Given the description of an element on the screen output the (x, y) to click on. 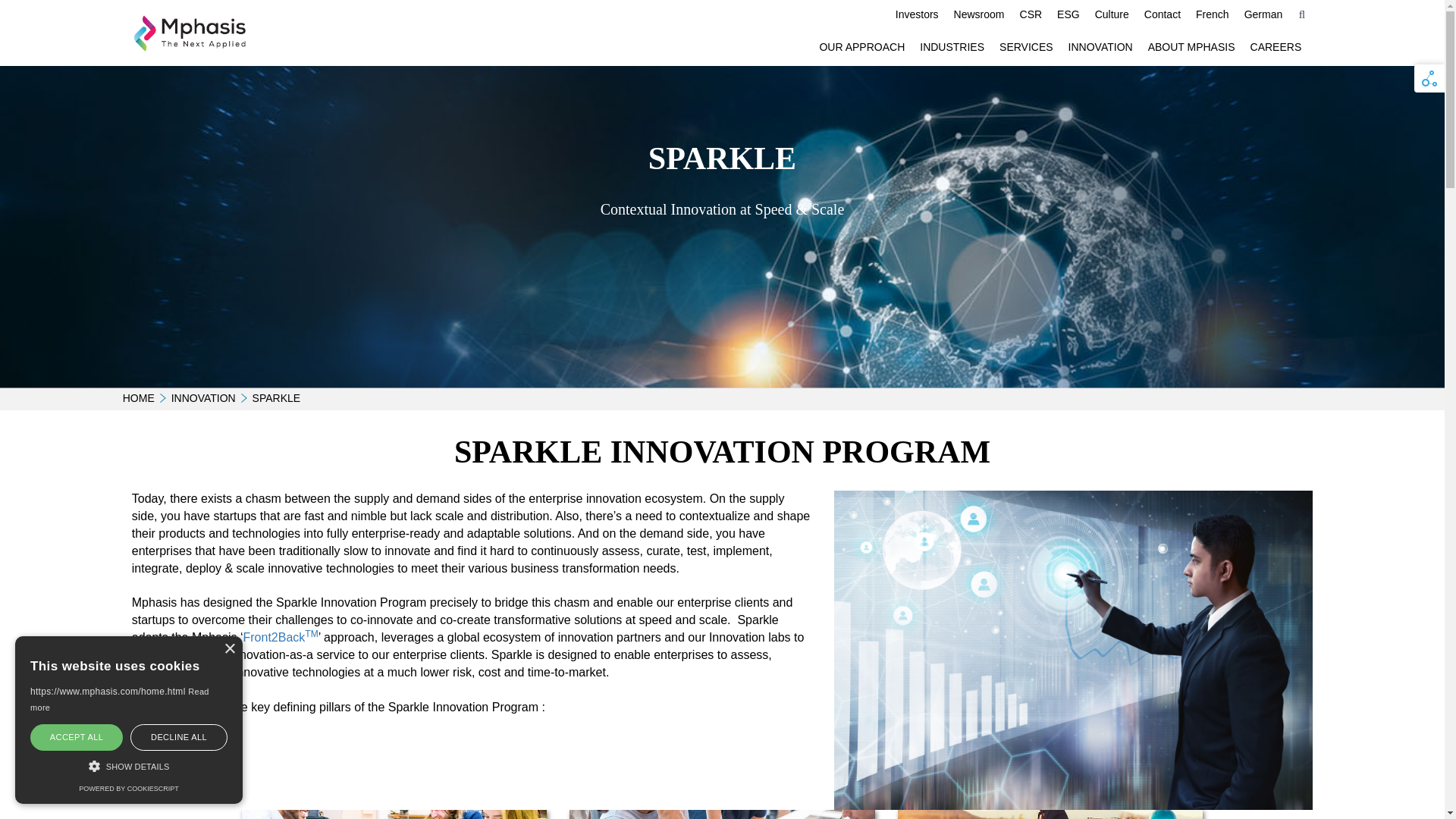
SERVICES (1026, 46)
Consent Management Platform (127, 788)
ESG (1068, 14)
CSR (1030, 14)
OUR APPROACH (861, 46)
Contact (1162, 14)
Investors (917, 14)
German (1263, 14)
INNOVATION (1100, 46)
French (1212, 14)
CAREERS (1275, 46)
The Next Applied (190, 33)
Newsroom (978, 14)
INDUSTRIES (951, 46)
Culture (1112, 14)
